Given the description of an element on the screen output the (x, y) to click on. 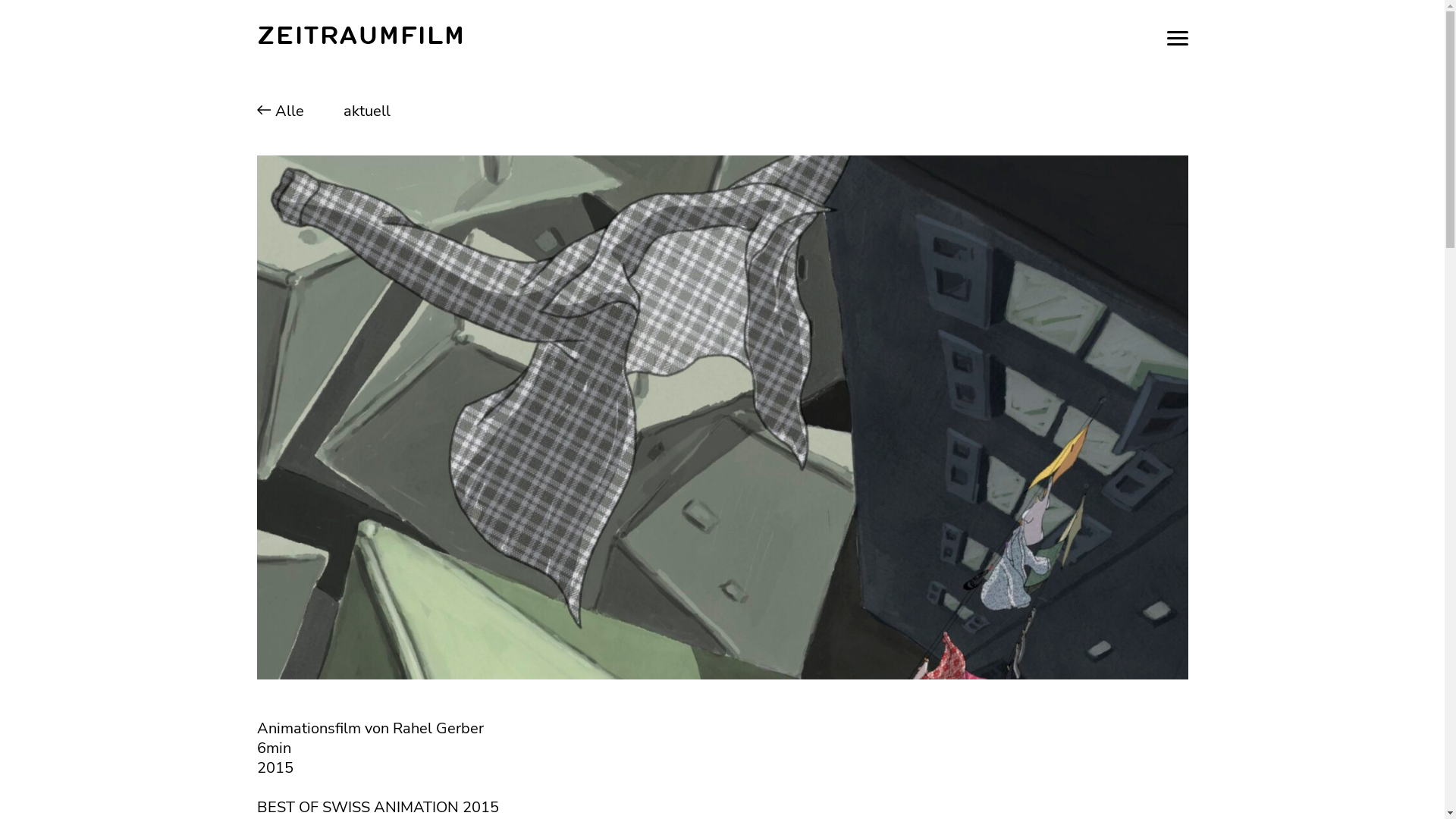
Alle Element type: text (284, 110)
ZEITRAUMFILM Element type: text (360, 37)
aktuell Element type: text (356, 110)
